Given the description of an element on the screen output the (x, y) to click on. 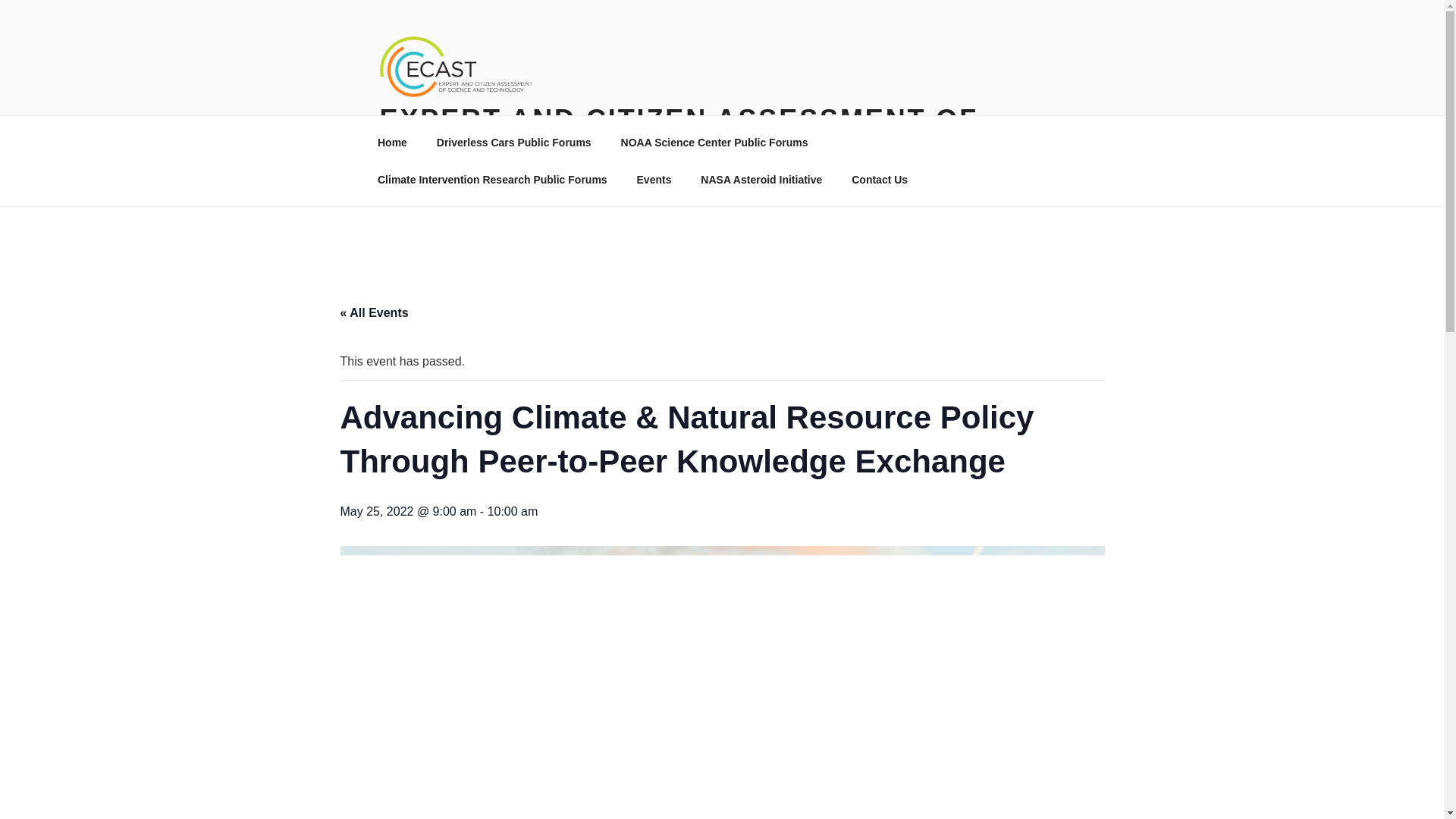
EXPERT AND CITIZEN ASSESSMENT OF SCIENCE AND TECHNOLOGY (678, 136)
Events (653, 179)
Home (392, 142)
Climate Intervention Research Public Forums (492, 179)
Contact Us (879, 179)
NASA Asteroid Initiative (761, 179)
Driverless Cars Public Forums (513, 142)
NOAA Science Center Public Forums (719, 142)
